Given the description of an element on the screen output the (x, y) to click on. 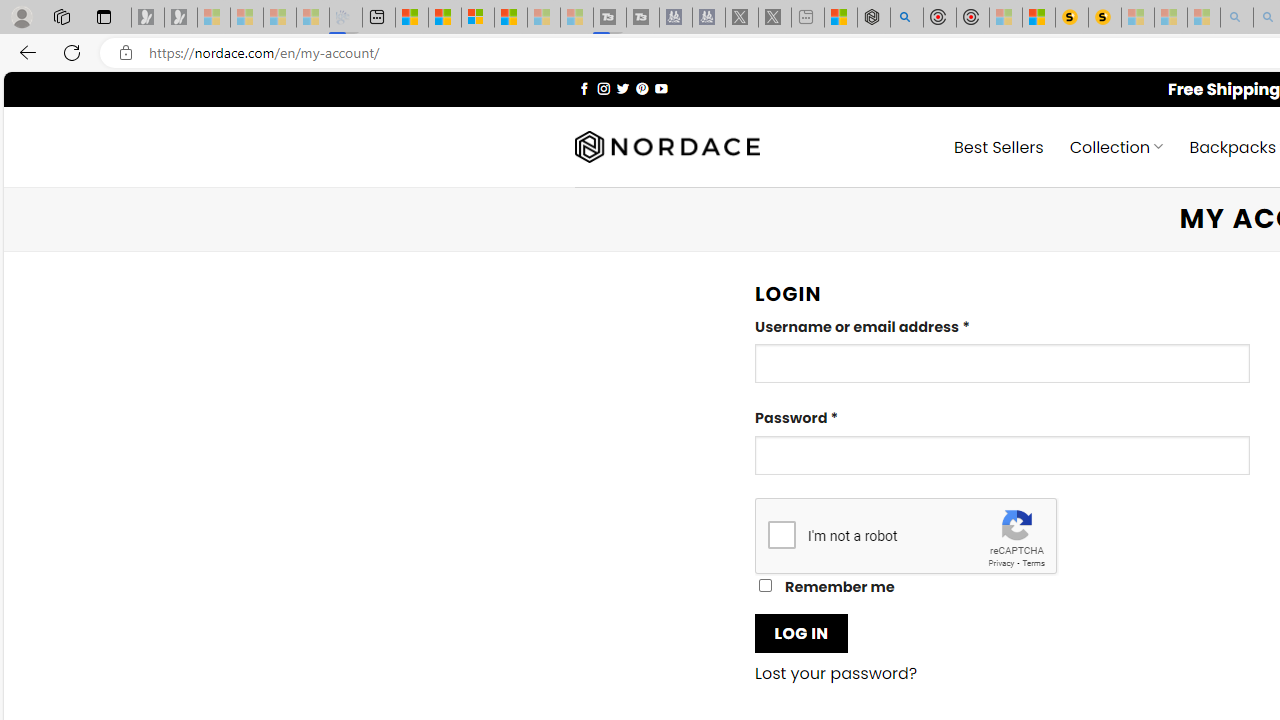
I'm not a robot (782, 533)
Overview (478, 17)
  Best Sellers (998, 146)
Follow on Instagram (603, 88)
